Given the description of an element on the screen output the (x, y) to click on. 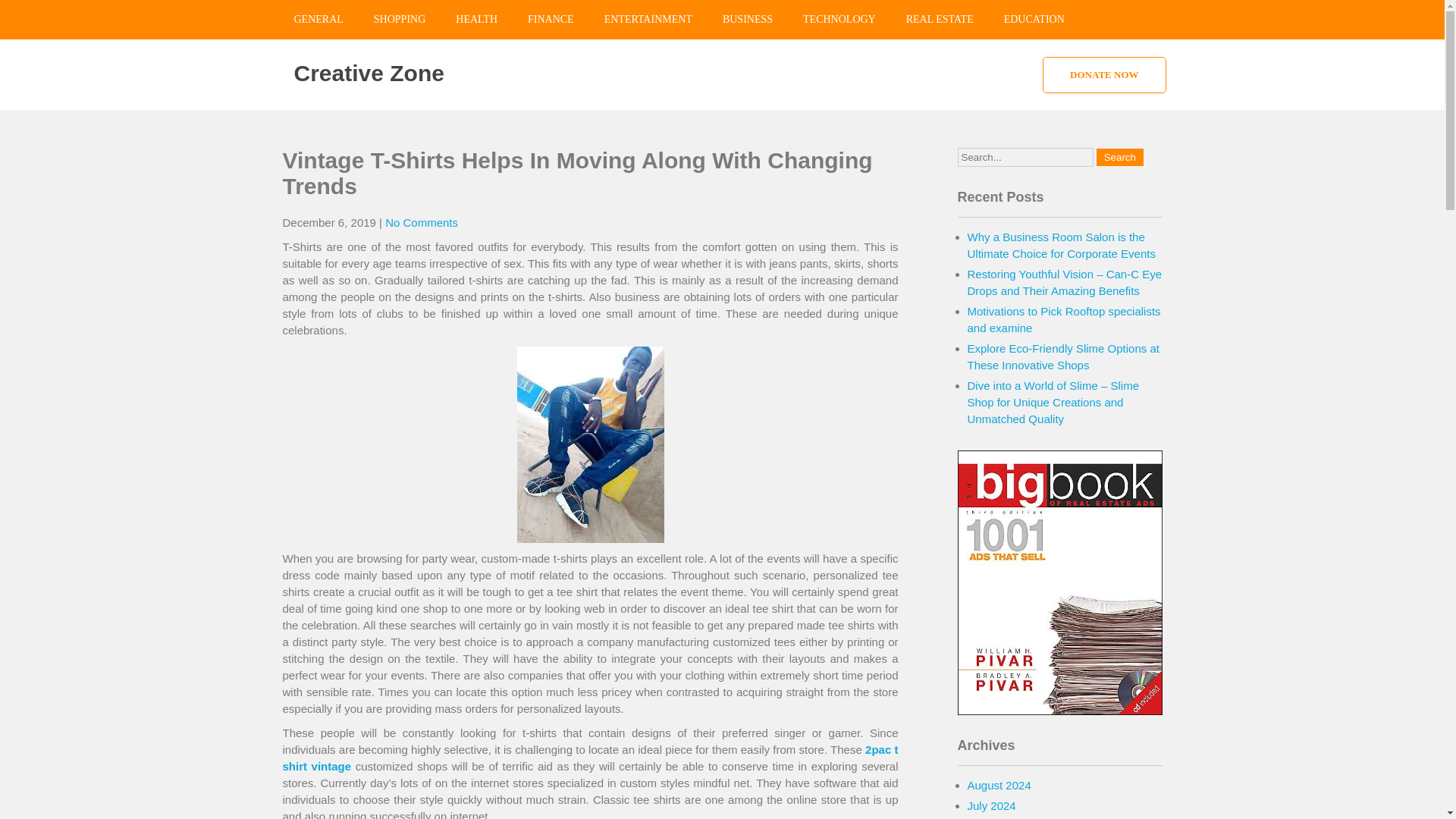
Motivations to Pick Rooftop specialists and examine (1064, 319)
August 2024 (999, 784)
FINANCE (550, 19)
BUSINESS (747, 19)
Explore Eco-Friendly Slime Options at These Innovative Shops (1063, 356)
Creative Zone (369, 72)
REAL ESTATE (939, 19)
July 2024 (992, 805)
ENTERTAINMENT (648, 19)
HEALTH (476, 19)
Search (1119, 157)
No Comments (421, 222)
Search (1119, 157)
SHOPPING (399, 19)
